Given the description of an element on the screen output the (x, y) to click on. 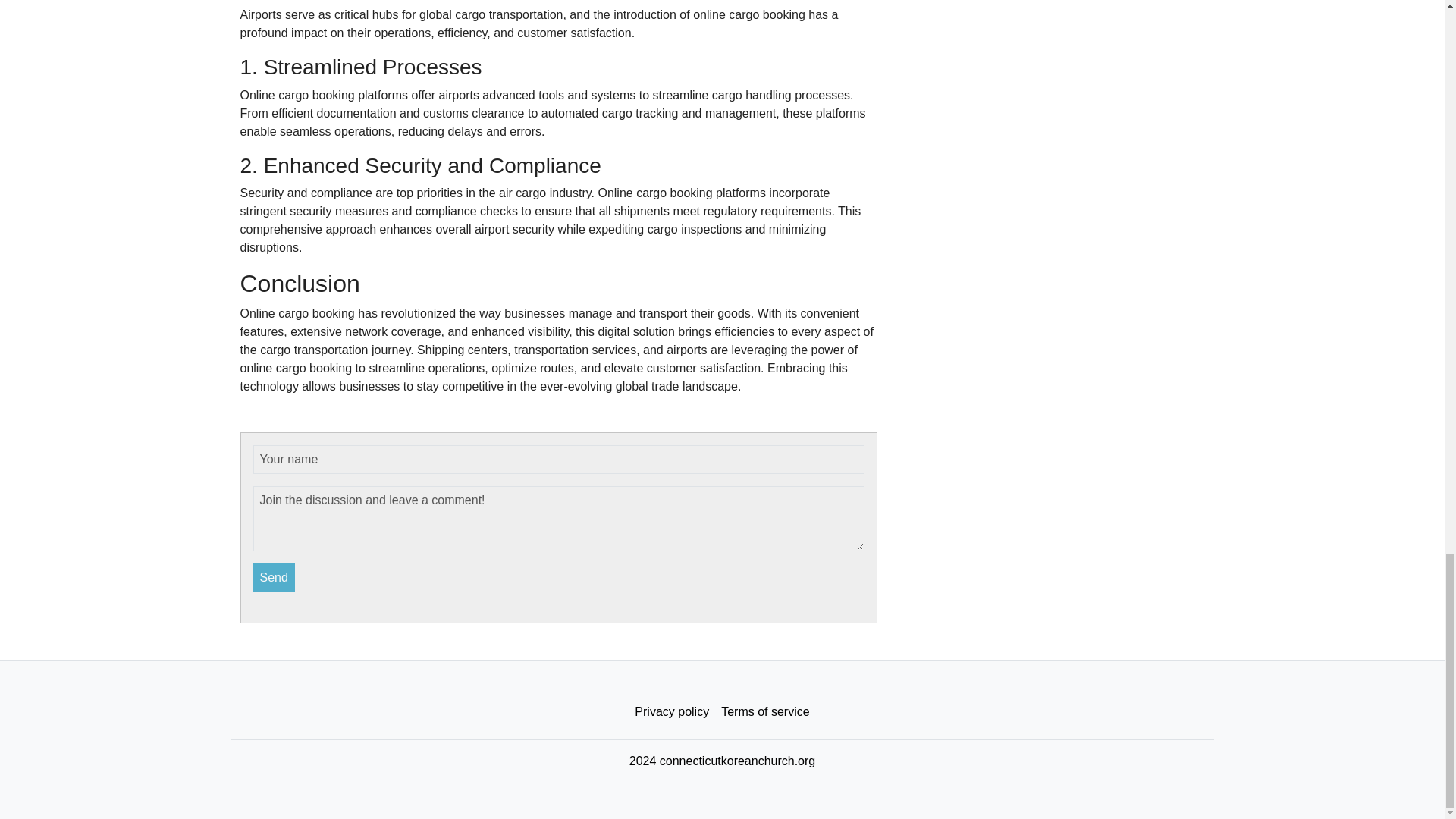
Privacy policy (671, 711)
Send (274, 577)
Terms of service (764, 711)
Send (274, 577)
